Given the description of an element on the screen output the (x, y) to click on. 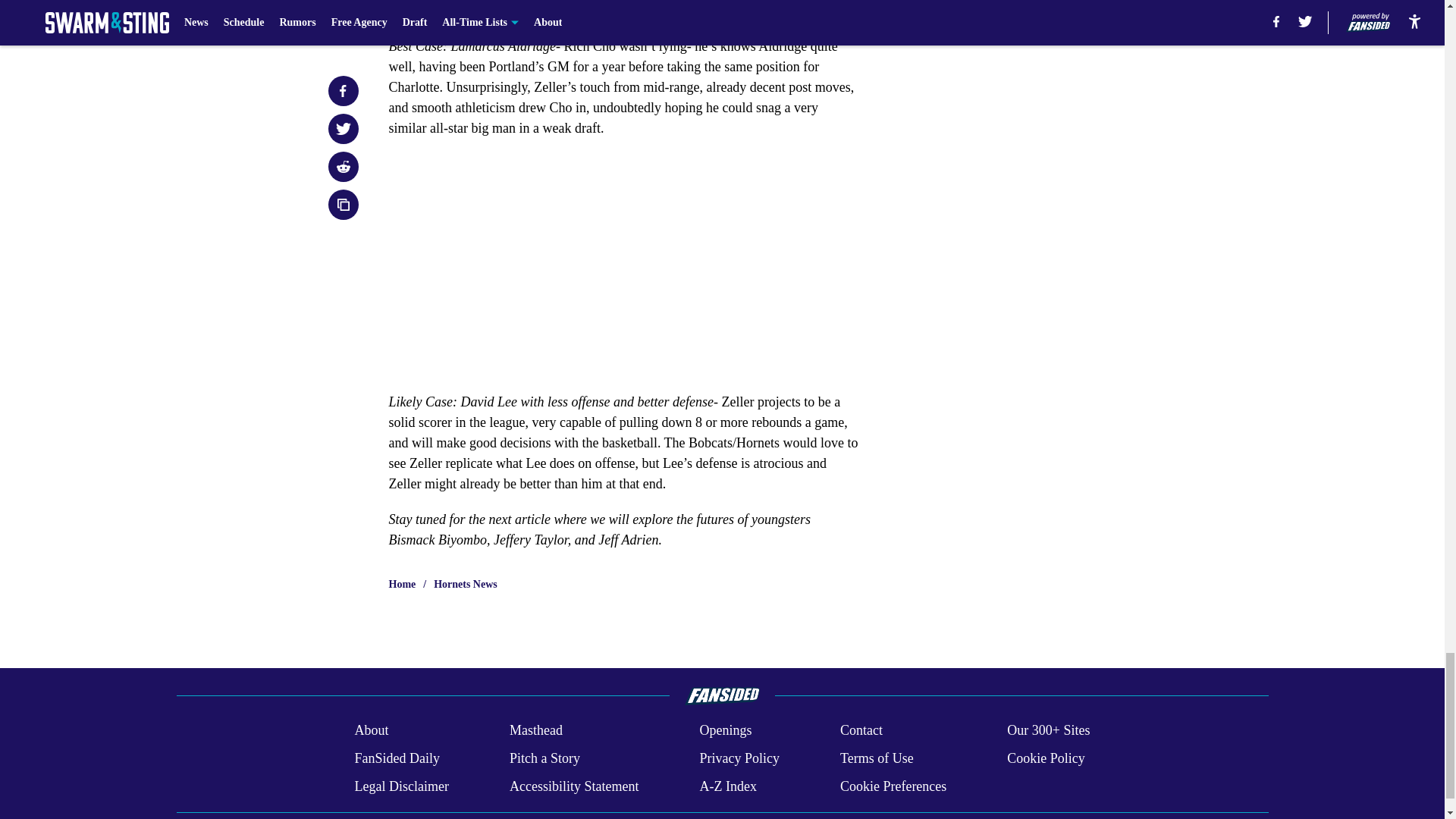
Privacy Policy (738, 758)
Pitch a Story (544, 758)
Cookie Policy (1045, 758)
Home (401, 584)
About (370, 730)
Hornets News (465, 584)
Legal Disclaimer (400, 786)
FanSided Daily (396, 758)
Contact (861, 730)
Terms of Use (877, 758)
Masthead (535, 730)
Openings (724, 730)
